Given the description of an element on the screen output the (x, y) to click on. 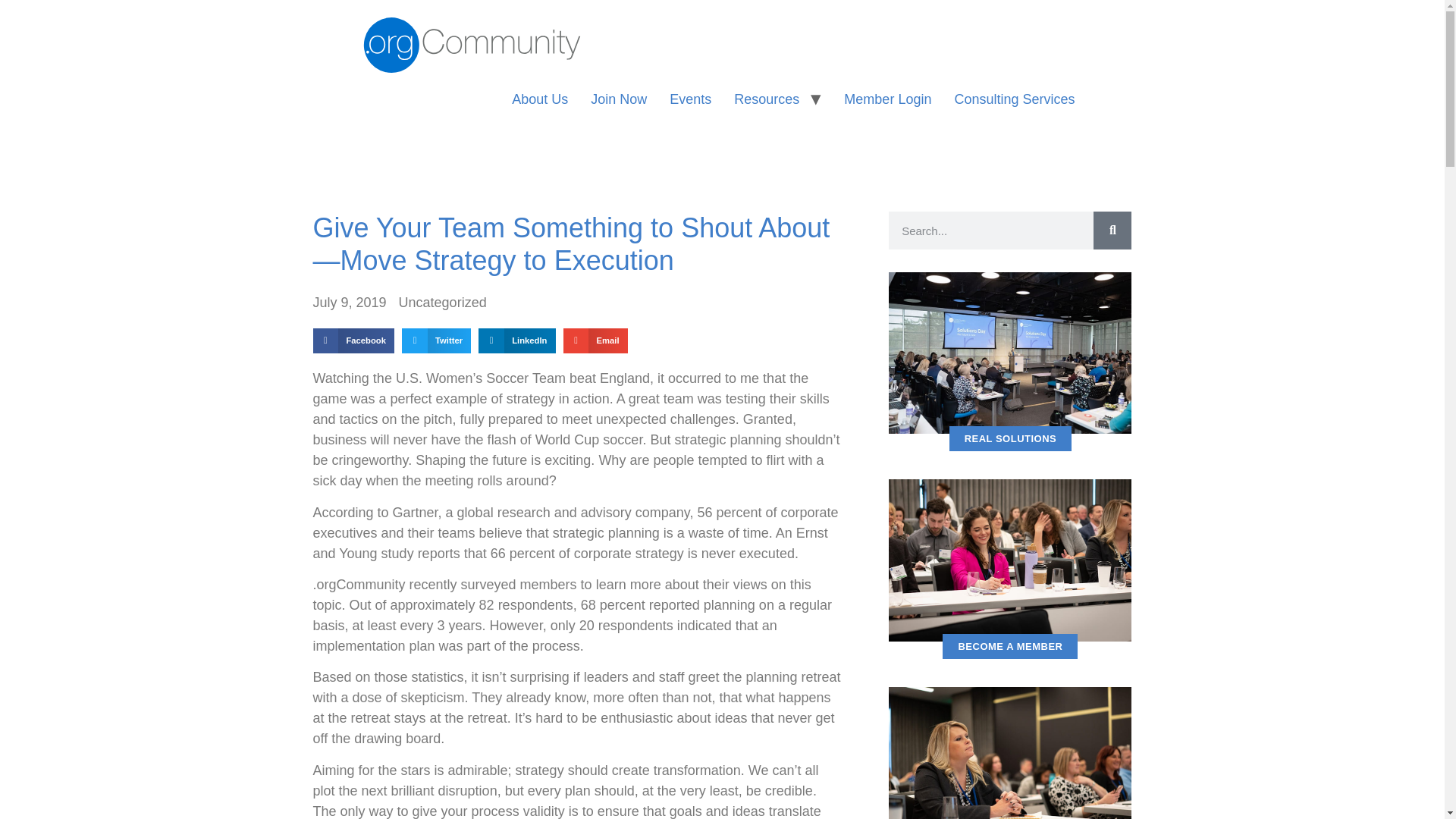
About Us (539, 99)
Events (690, 99)
Consulting Services (1014, 99)
Join Now (618, 99)
Member Login (887, 99)
Resources (766, 99)
BECOME A MEMBER (1009, 646)
REAL SOLUTIONS (1010, 438)
